Given the description of an element on the screen output the (x, y) to click on. 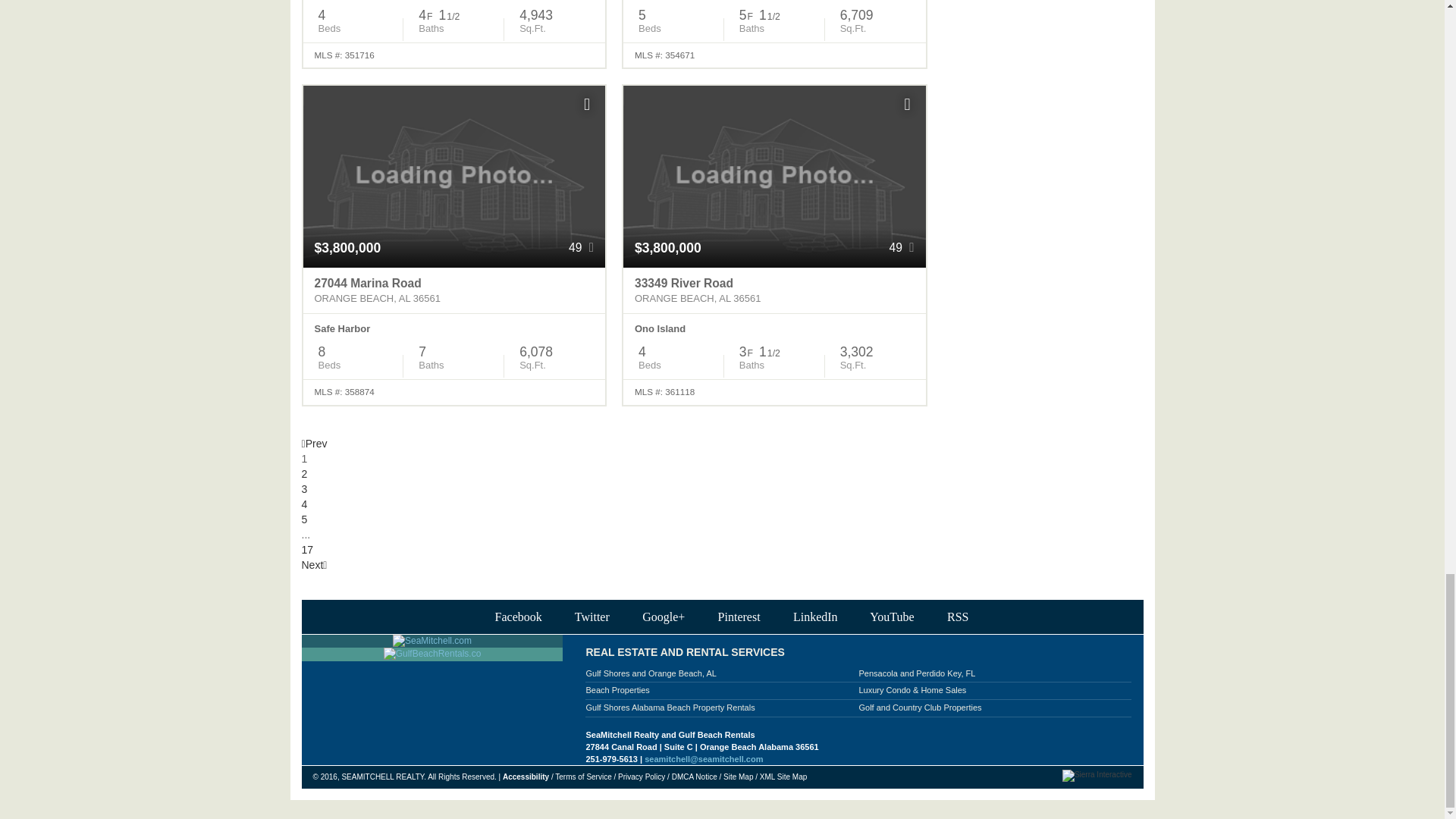
33349 River Road Orange Beach,  AL 36561 (774, 290)
27044 Marina Road Orange Beach,  AL 36561 (453, 290)
